Given the description of an element on the screen output the (x, y) to click on. 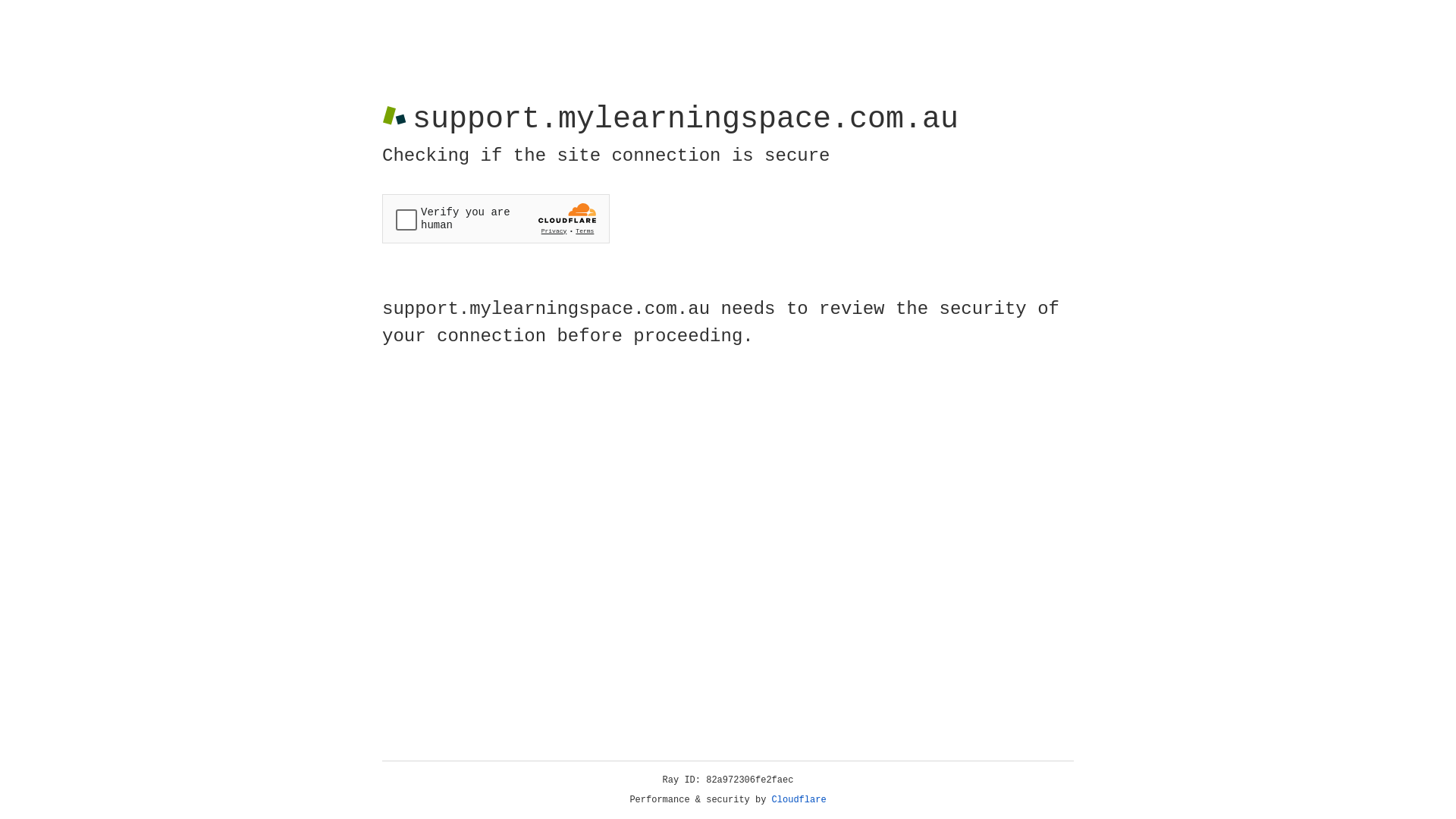
Widget containing a Cloudflare security challenge Element type: hover (495, 218)
Cloudflare Element type: text (798, 799)
